Given the description of an element on the screen output the (x, y) to click on. 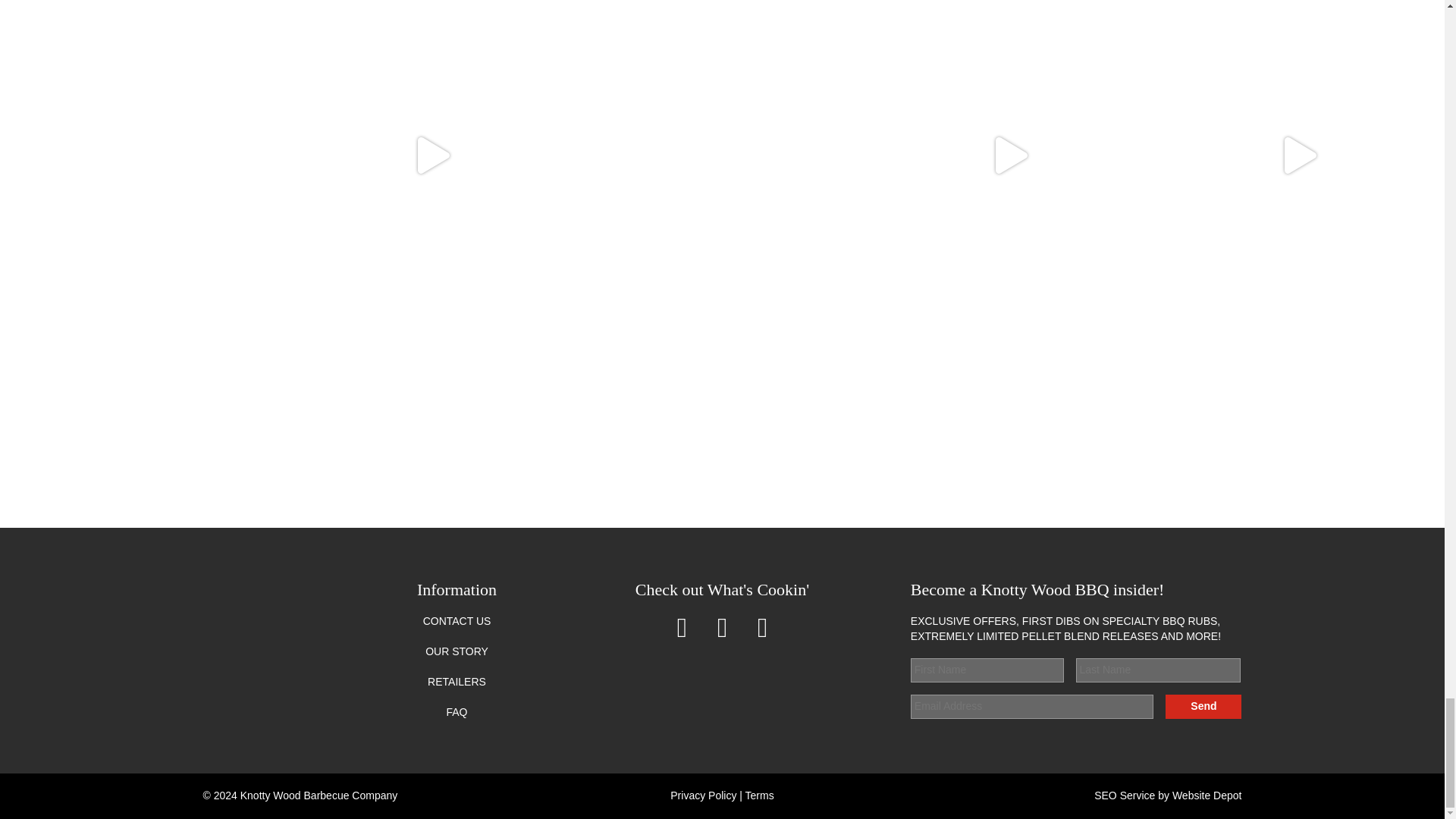
Send (1203, 706)
